Given the description of an element on the screen output the (x, y) to click on. 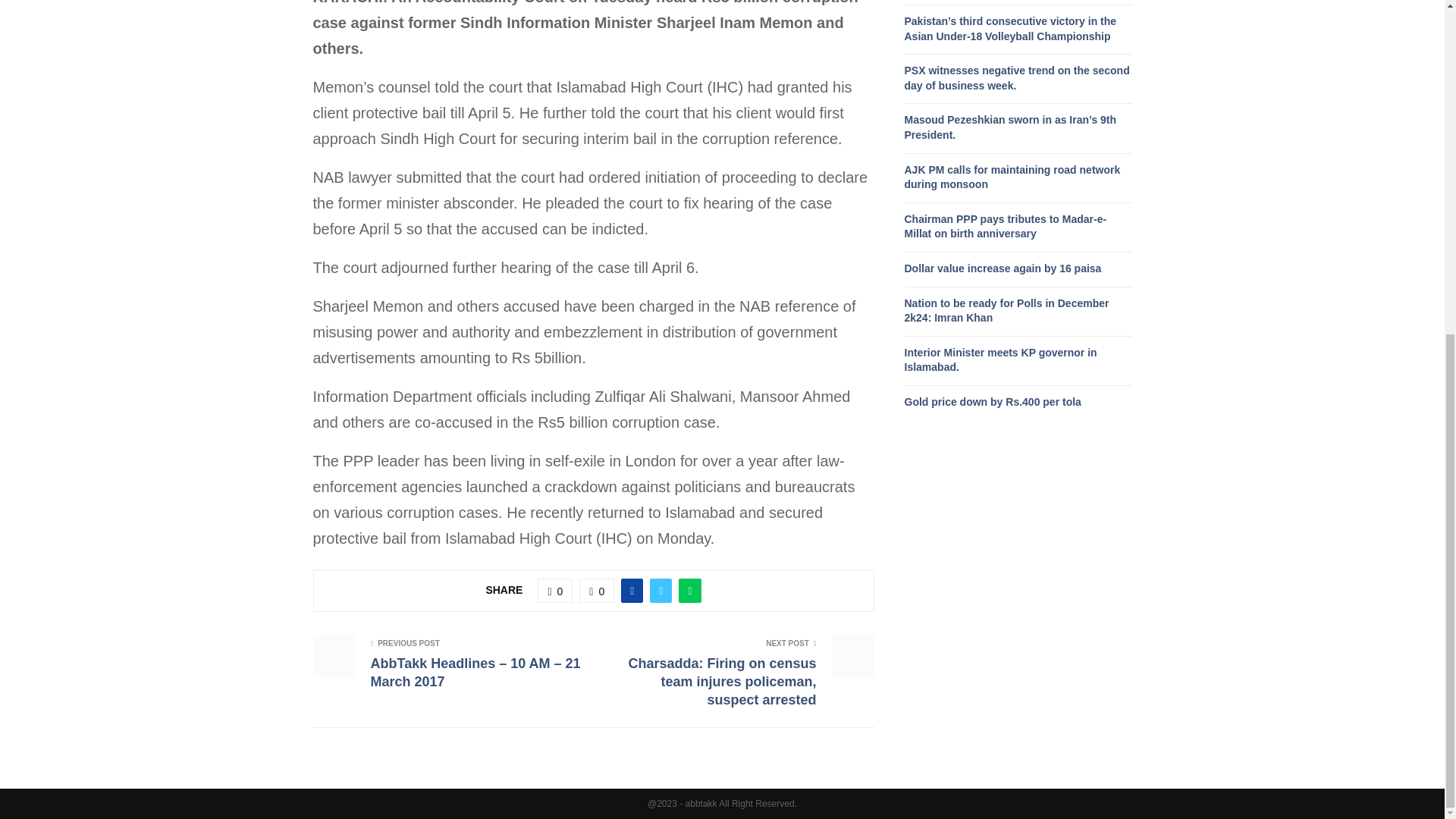
Like (554, 590)
0 (554, 590)
